Given the description of an element on the screen output the (x, y) to click on. 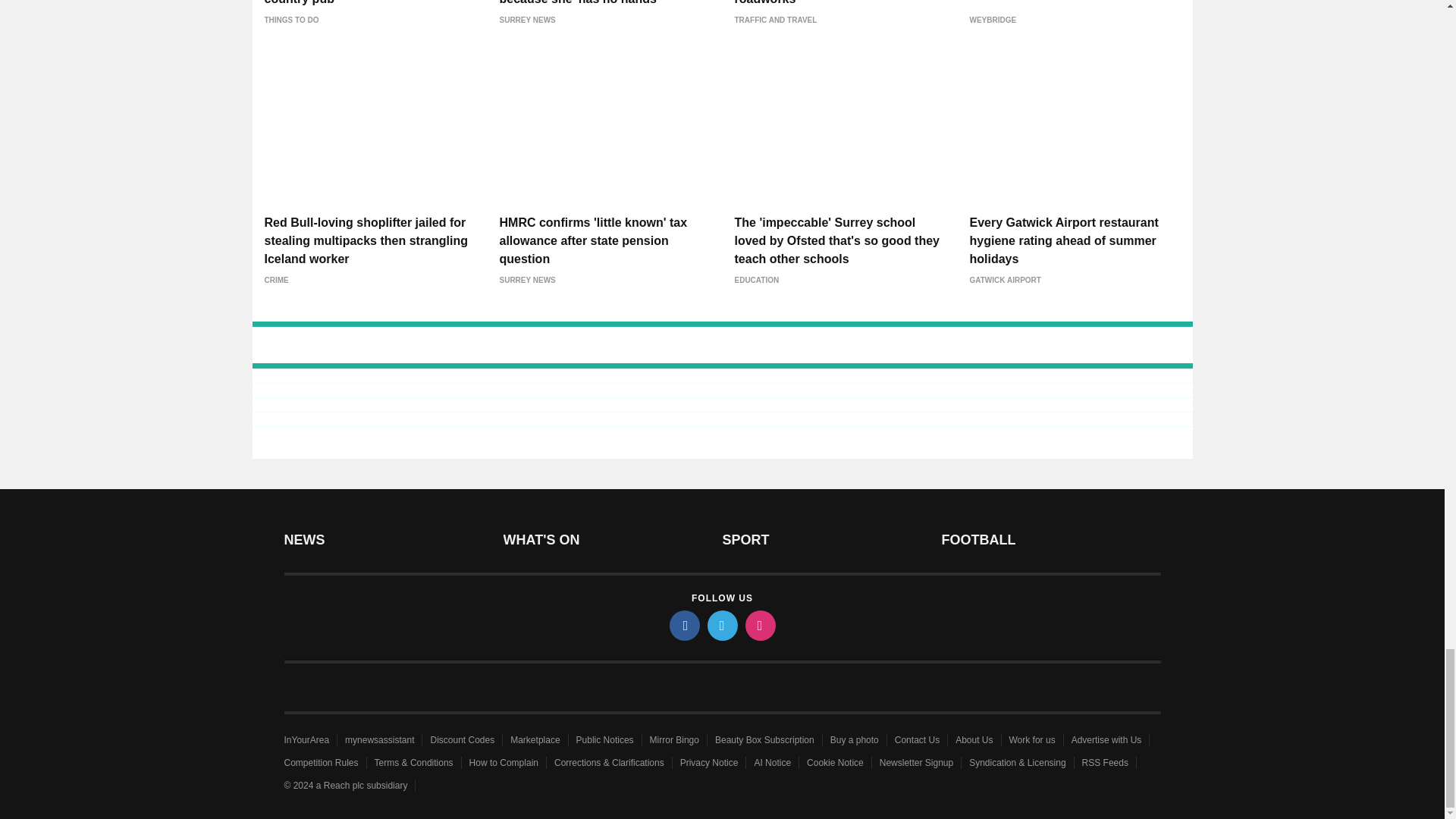
twitter (721, 625)
facebook (683, 625)
instagram (759, 625)
